Given the description of an element on the screen output the (x, y) to click on. 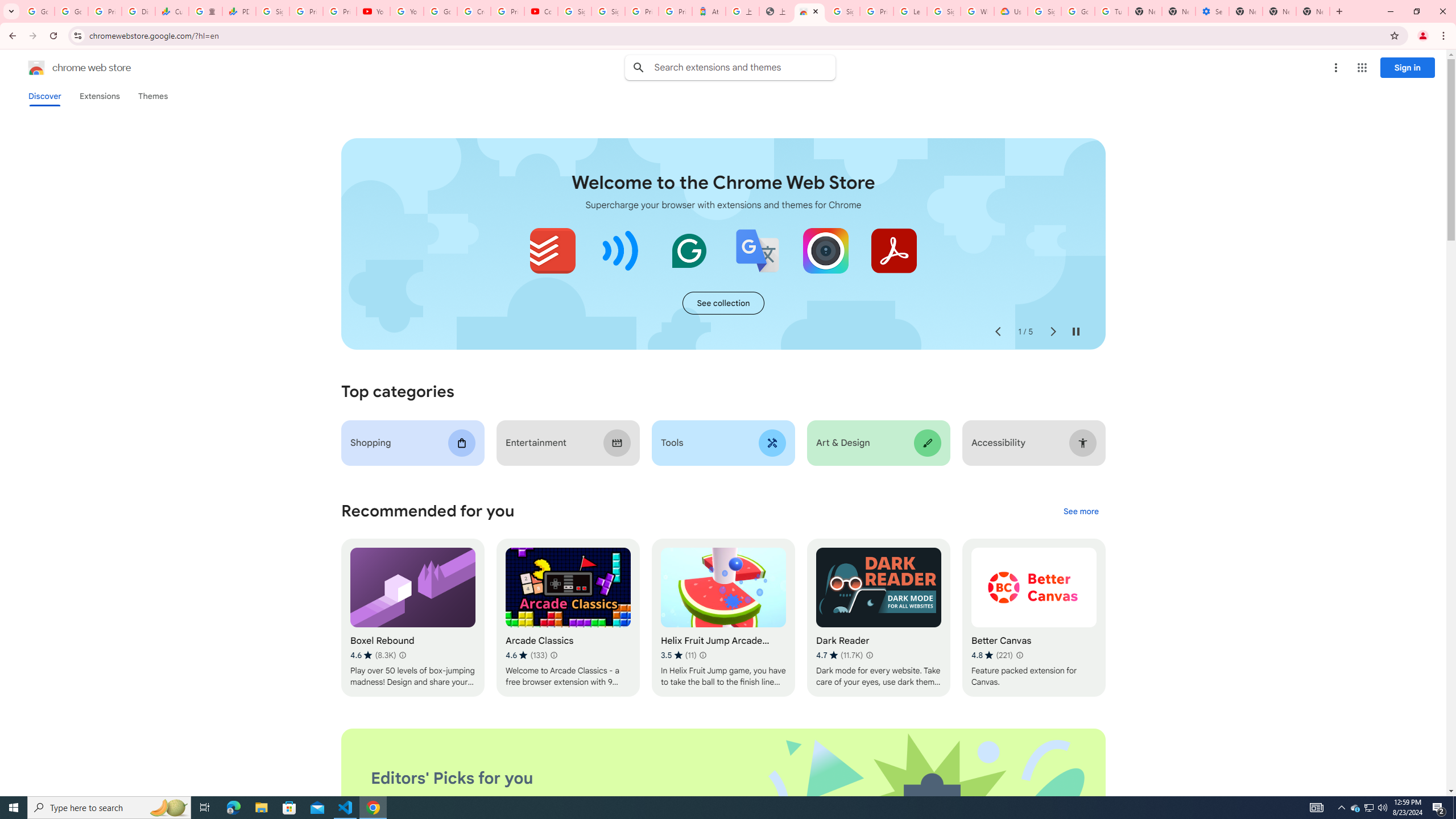
Average rating 4.6 out of 5 stars. 133 ratings. (526, 655)
Discover (43, 95)
Google Translate (757, 250)
YouTube (372, 11)
More options menu (1335, 67)
Boxel Rebound (412, 617)
Entertainment (567, 443)
